Given the description of an element on the screen output the (x, y) to click on. 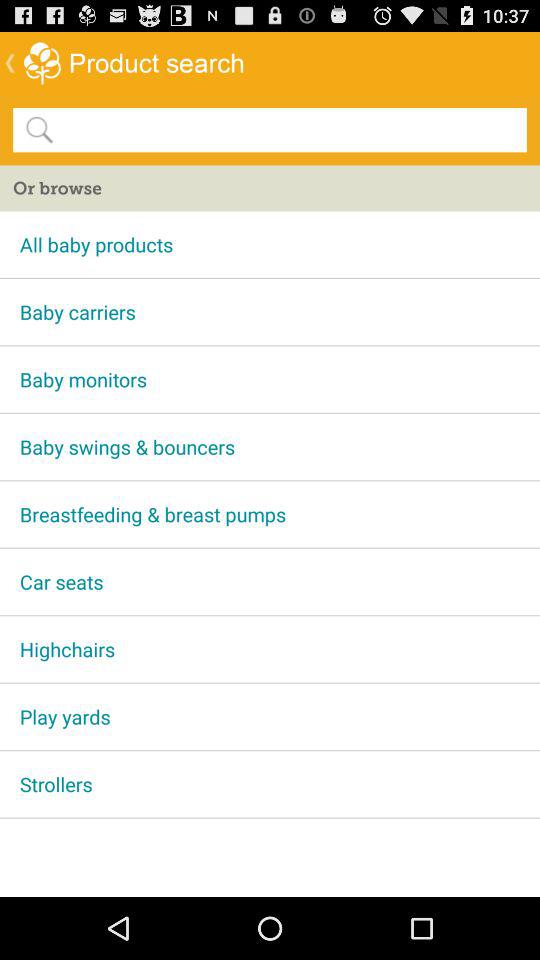
press baby carriers app (270, 311)
